Given the description of an element on the screen output the (x, y) to click on. 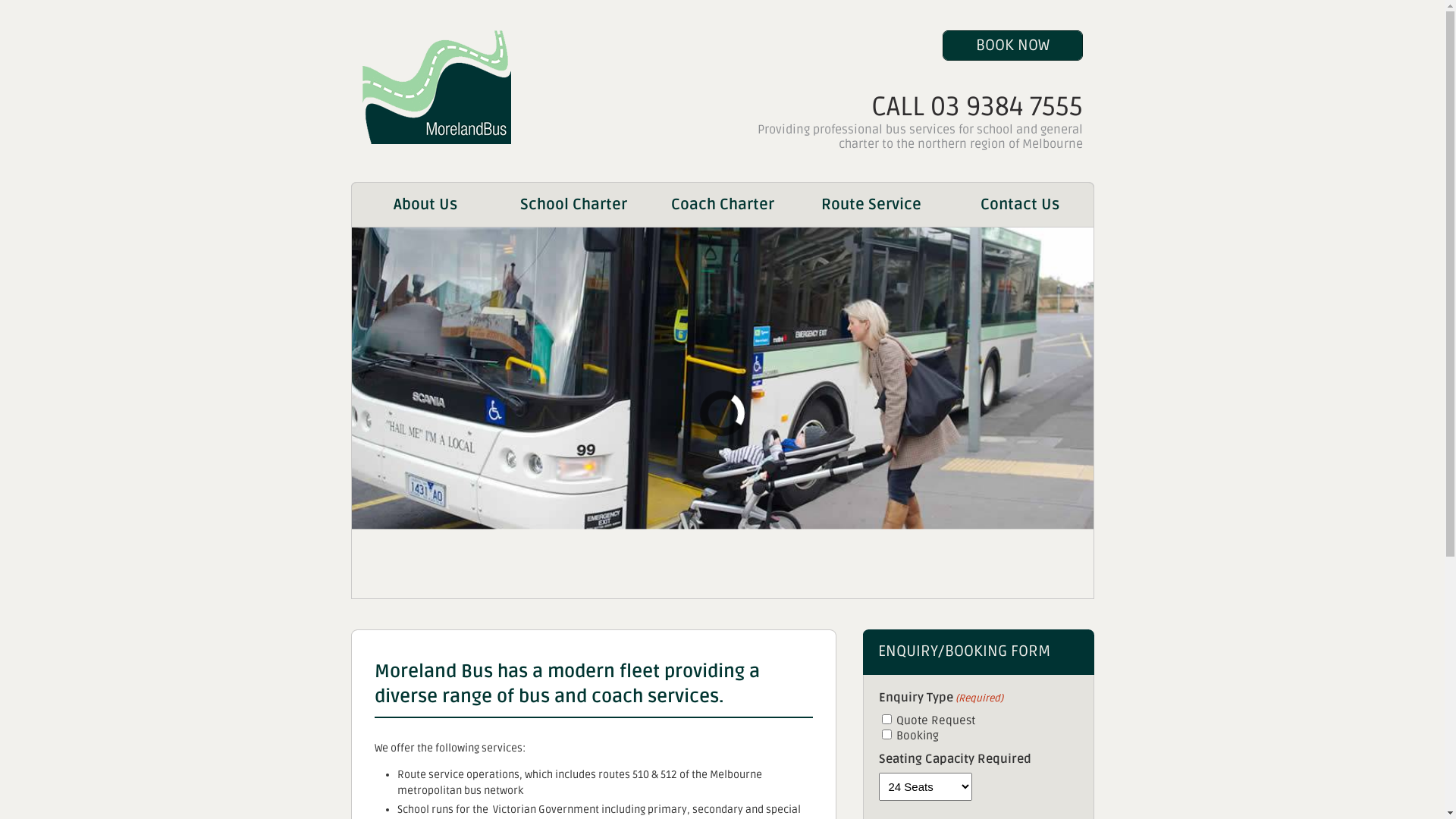
BOOK NOW Element type: text (1011, 45)
About Us Element type: text (424, 204)
Home Element type: hover (436, 140)
Coach Charter Element type: text (721, 204)
Route Service Element type: text (870, 204)
Contact Us Element type: text (1018, 204)
School Charter Element type: text (572, 204)
